Given the description of an element on the screen output the (x, y) to click on. 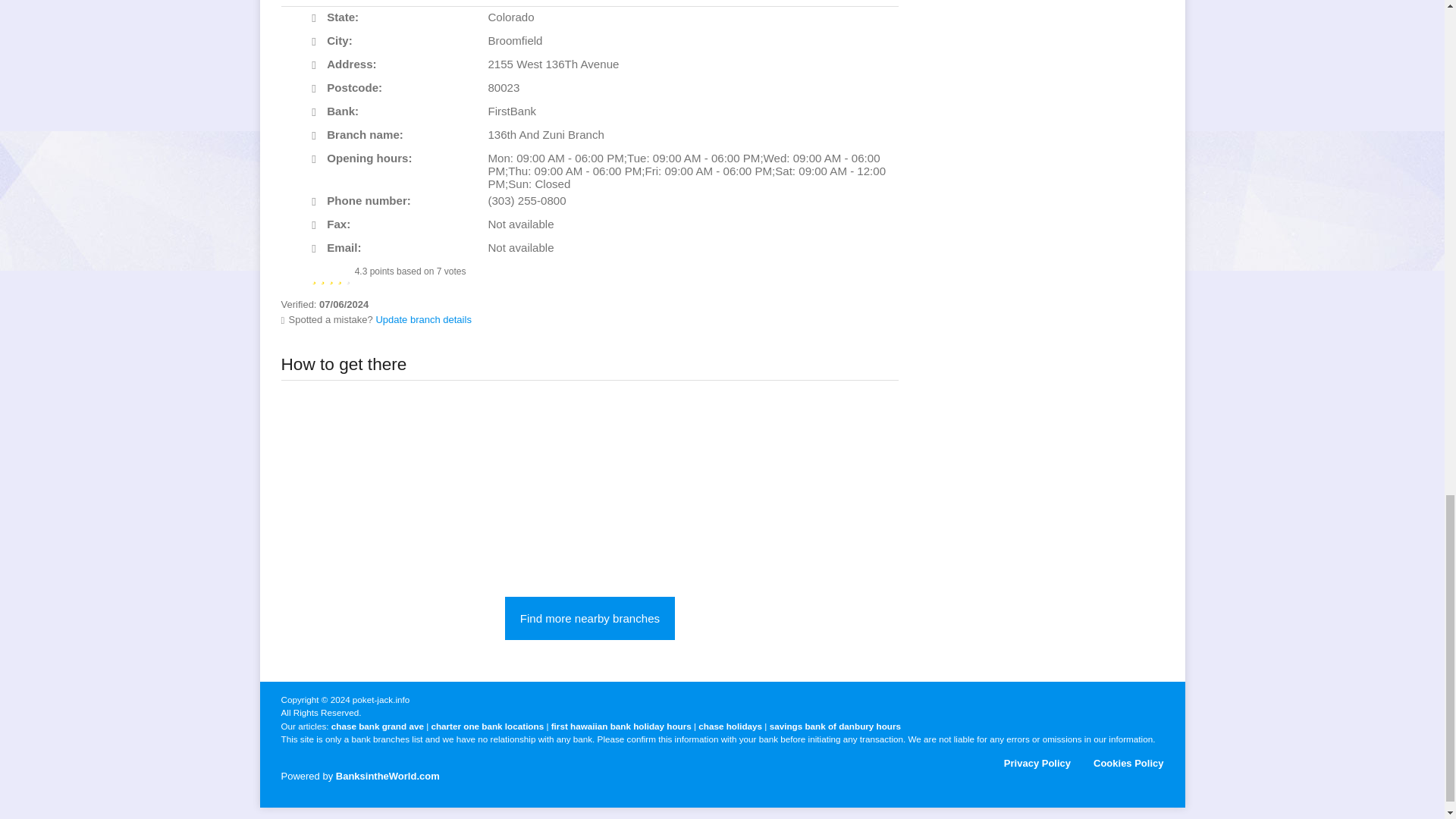
Update branch details (422, 319)
Opening hours (318, 159)
Find more nearby branches (590, 618)
State (318, 18)
Bank (318, 112)
Address (318, 65)
Phone number (318, 201)
Branch name (318, 135)
Postcode (318, 89)
City (318, 41)
Fax (318, 225)
